Given the description of an element on the screen output the (x, y) to click on. 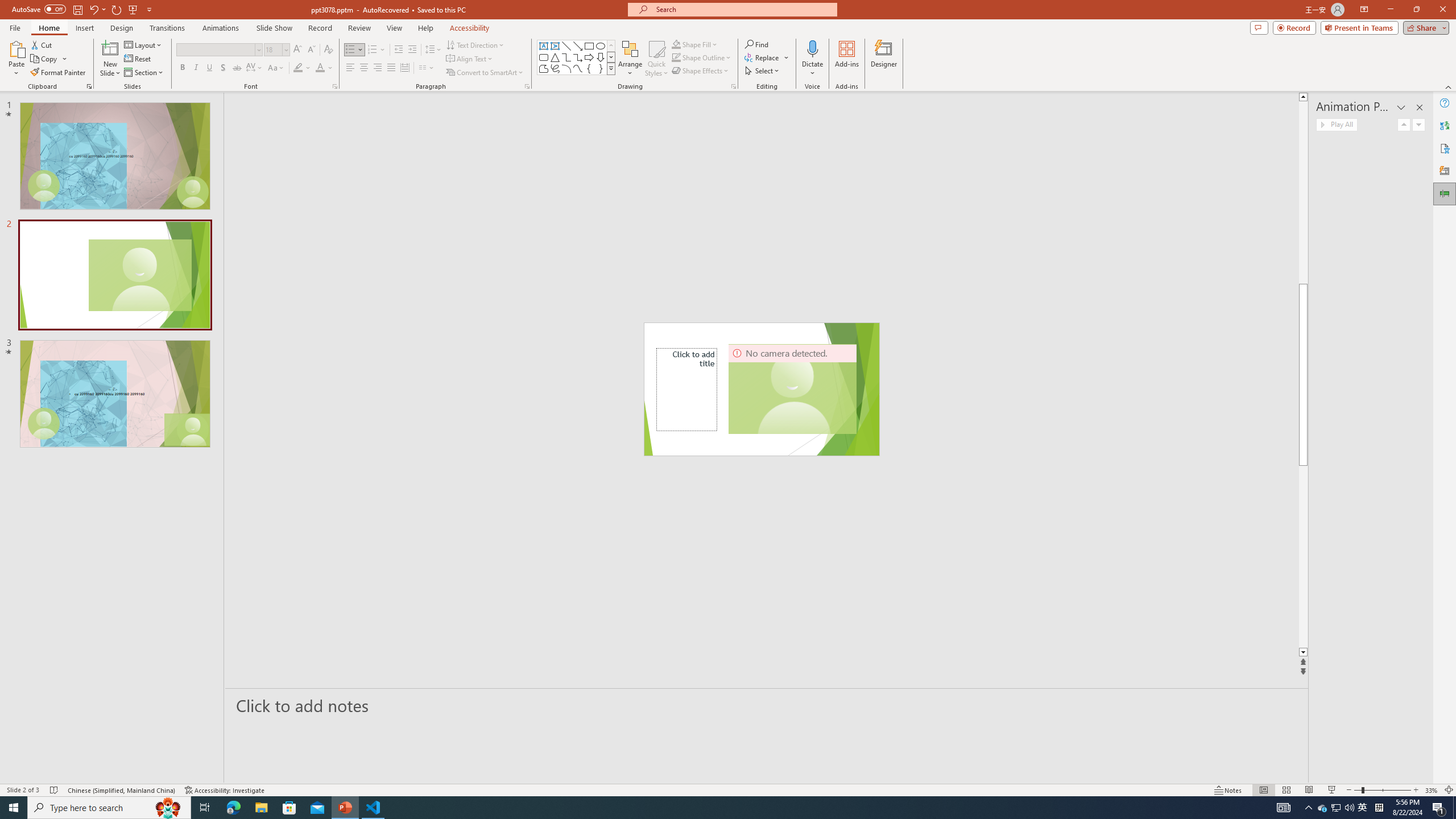
Find... (756, 44)
Close (1442, 9)
Select (762, 69)
Rectangle: Rounded Corners (543, 57)
Freeform: Scribble (554, 68)
Numbering (376, 49)
Quick Styles (656, 58)
Copy (45, 58)
Title TextBox (686, 389)
Review (359, 28)
Shape Fill Dark Green, Accent 2 (675, 44)
Copy (49, 58)
Save (77, 9)
Replace... (762, 56)
